Given the description of an element on the screen output the (x, y) to click on. 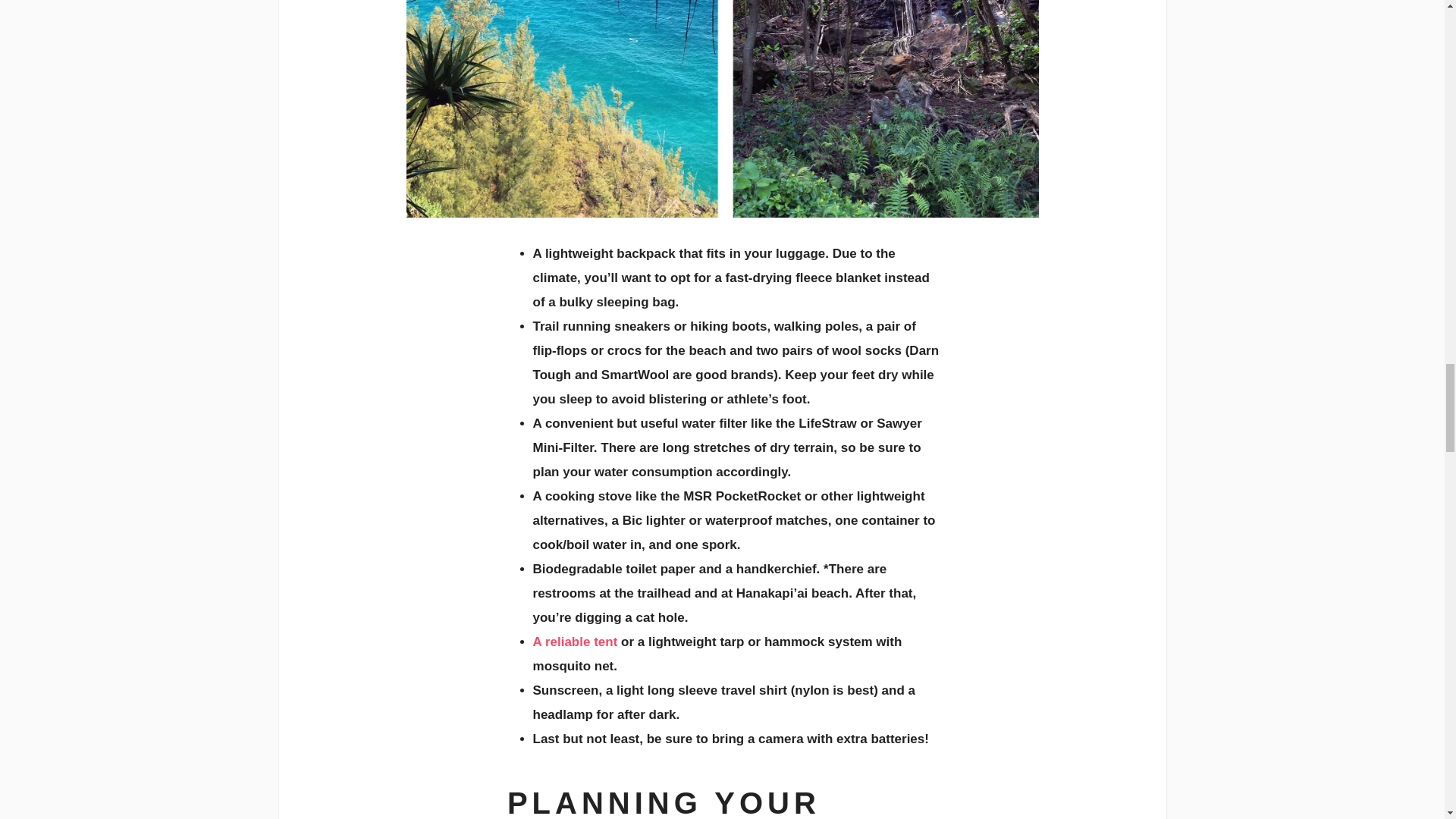
A reliable tent (574, 641)
